Given the description of an element on the screen output the (x, y) to click on. 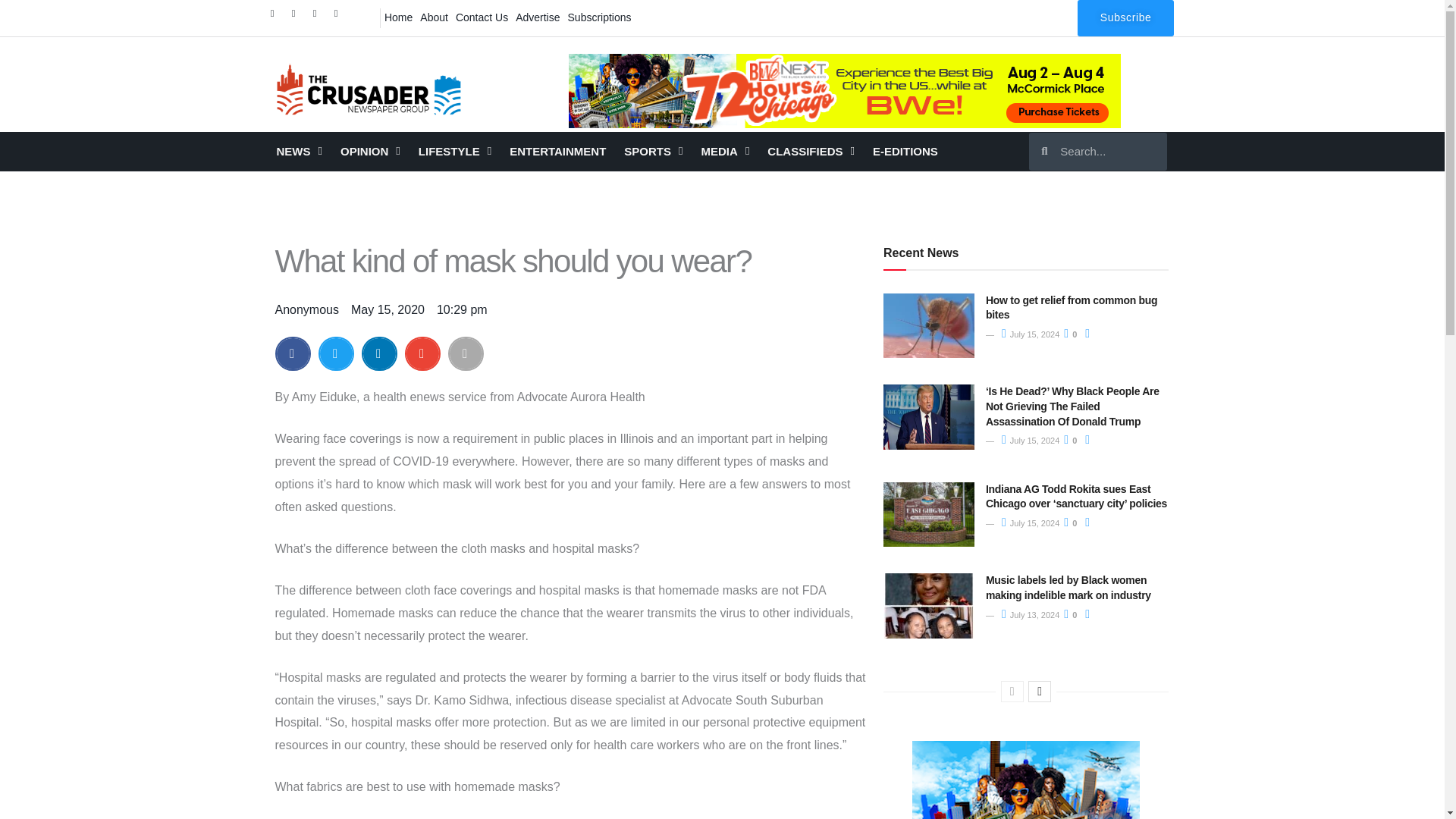
Previous (1012, 690)
Next (1039, 690)
Instagram (318, 17)
About (433, 17)
Twitter (297, 17)
Facebook-f (276, 17)
Subscriptions (599, 17)
Contact Us (481, 17)
Home (398, 17)
BWE-72 Hours to Chicago-Square-June 2024 (1026, 780)
Advertise (537, 17)
NEWS (298, 151)
LIFESTYLE (454, 151)
OPINION (370, 151)
Black Women's Expo-July 2024 (845, 90)
